Given the description of an element on the screen output the (x, y) to click on. 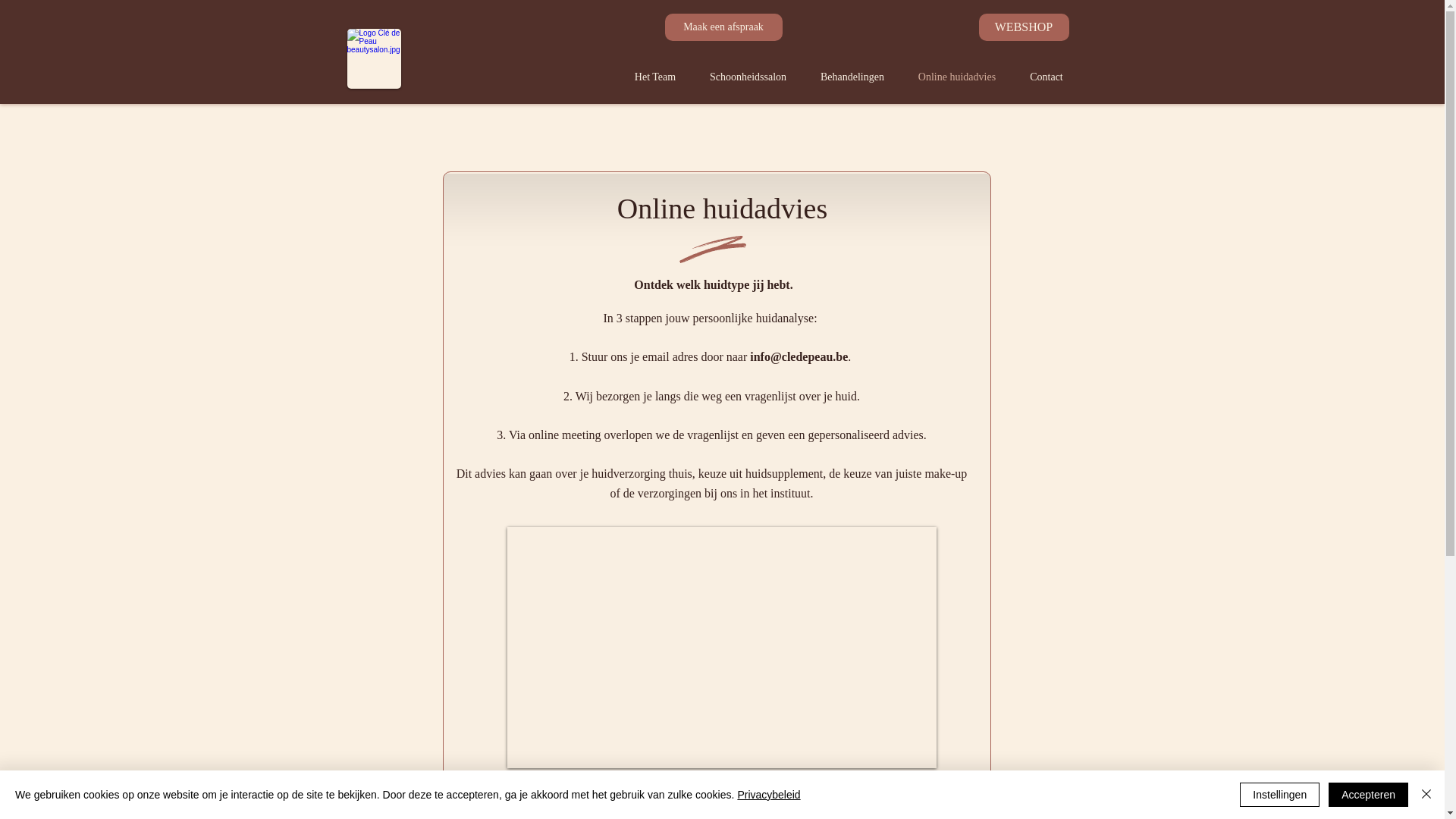
WEBSHOP Element type: text (1023, 26)
Maak een afspraak Element type: text (722, 26)
Online huidadvies Element type: text (956, 76)
Accepteren Element type: text (1368, 794)
Privacybeleid Element type: text (768, 794)
Contact Element type: text (1046, 76)
info@cledepeau.be Element type: text (798, 356)
Instellingen Element type: text (1279, 794)
Behandelingen Element type: text (852, 76)
Schoonheidssalon Element type: text (748, 76)
Het Team Element type: text (654, 76)
